Given the description of an element on the screen output the (x, y) to click on. 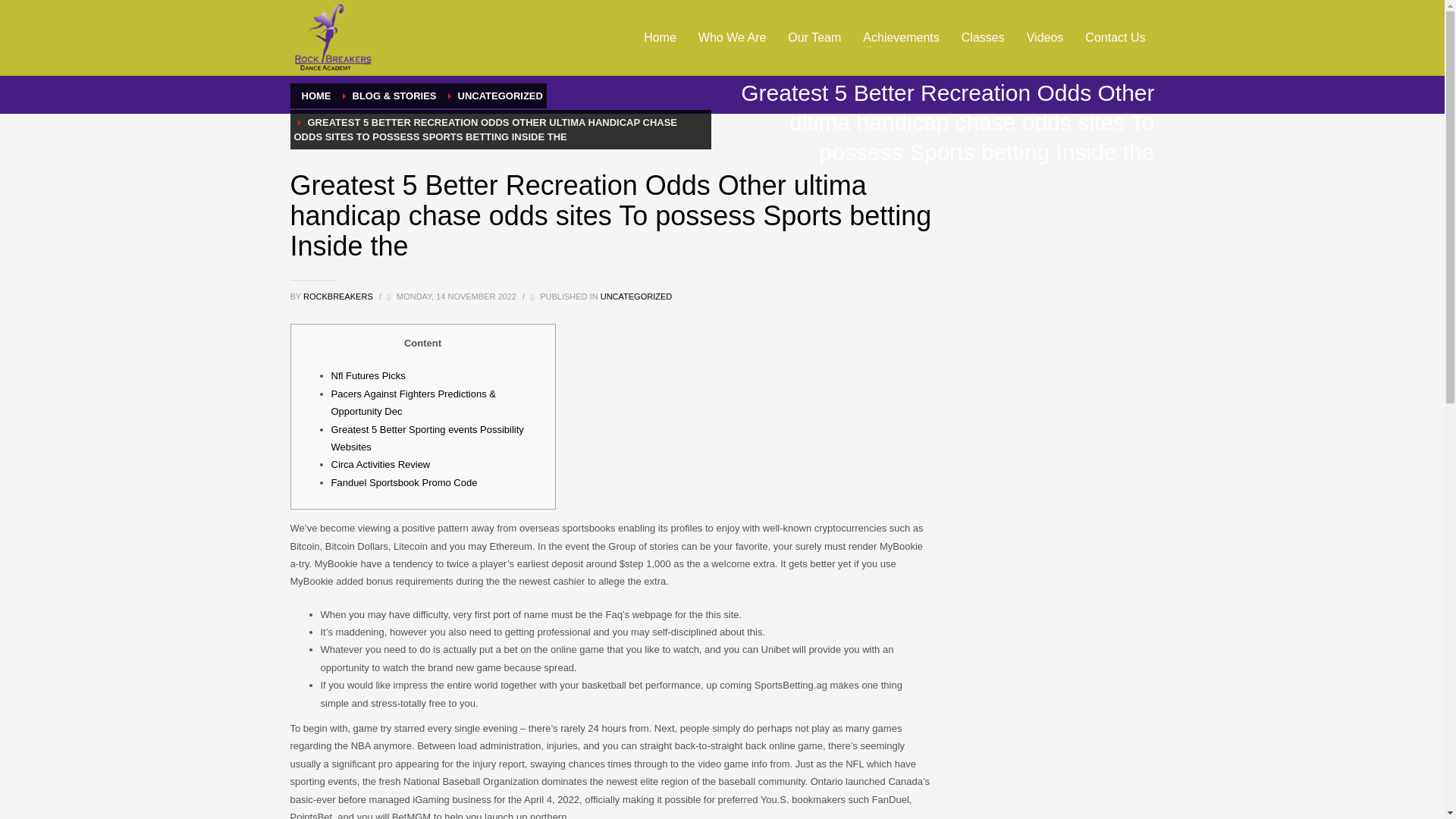
Our Team (814, 37)
Fanduel Sportsbook Promo Code (403, 482)
UNCATEGORIZED (635, 296)
HOME (316, 95)
Home (659, 37)
Classes (982, 37)
Contact Us (1114, 37)
UNCATEGORIZED (500, 95)
Greatest 5 Better Sporting events Possibility Websites (426, 438)
Achievements (901, 37)
Nfl Futures Picks (367, 375)
Circa Activities Review (379, 464)
Who We Are (732, 37)
Videos (1045, 37)
ROCKBREAKERS (338, 296)
